Given the description of an element on the screen output the (x, y) to click on. 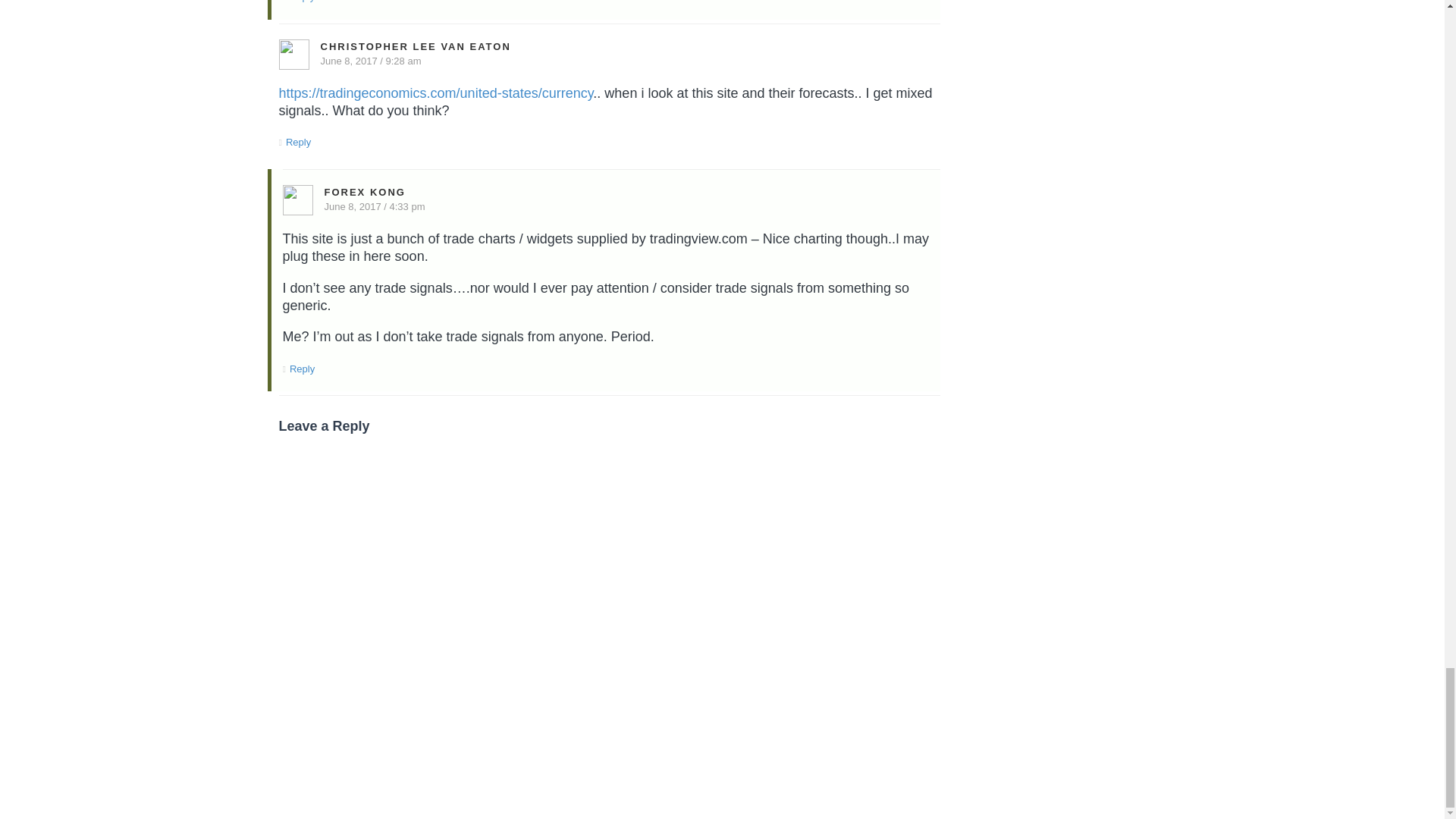
Reply (301, 1)
Reply (301, 368)
Reply (298, 142)
